Given the description of an element on the screen output the (x, y) to click on. 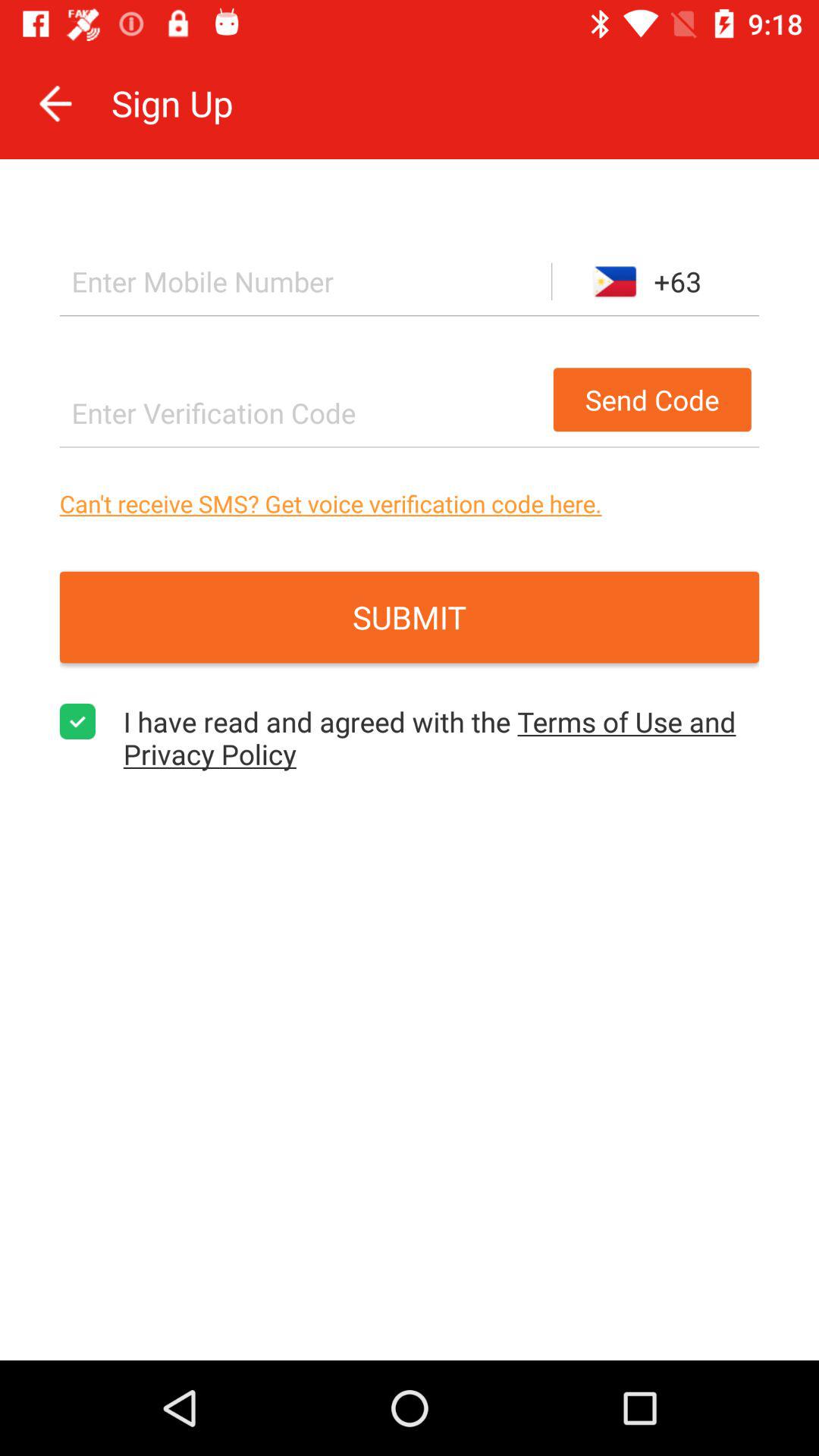
click icon above send code (305, 281)
